Given the description of an element on the screen output the (x, y) to click on. 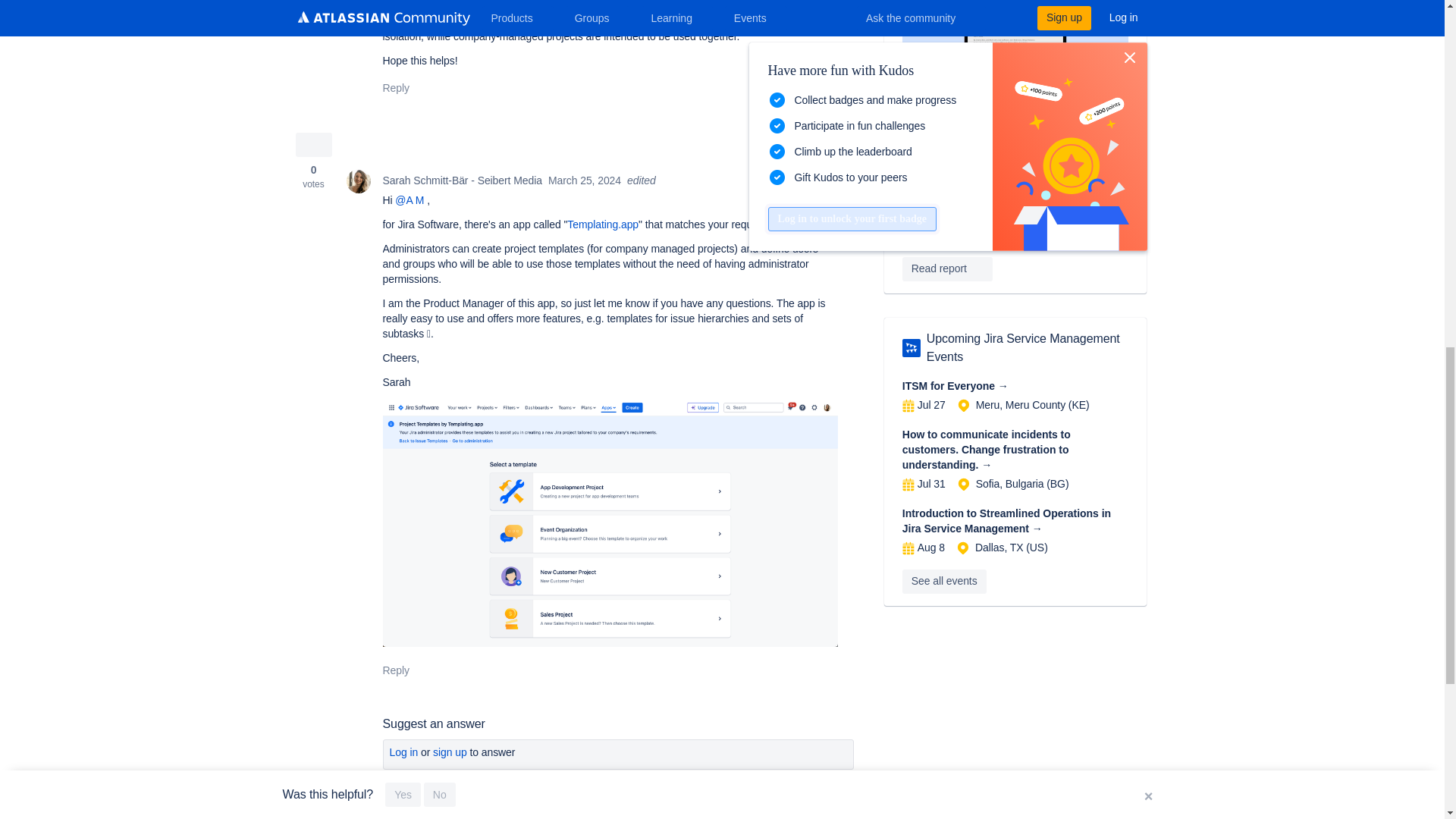
AUG Leaders (911, 348)
